Given the description of an element on the screen output the (x, y) to click on. 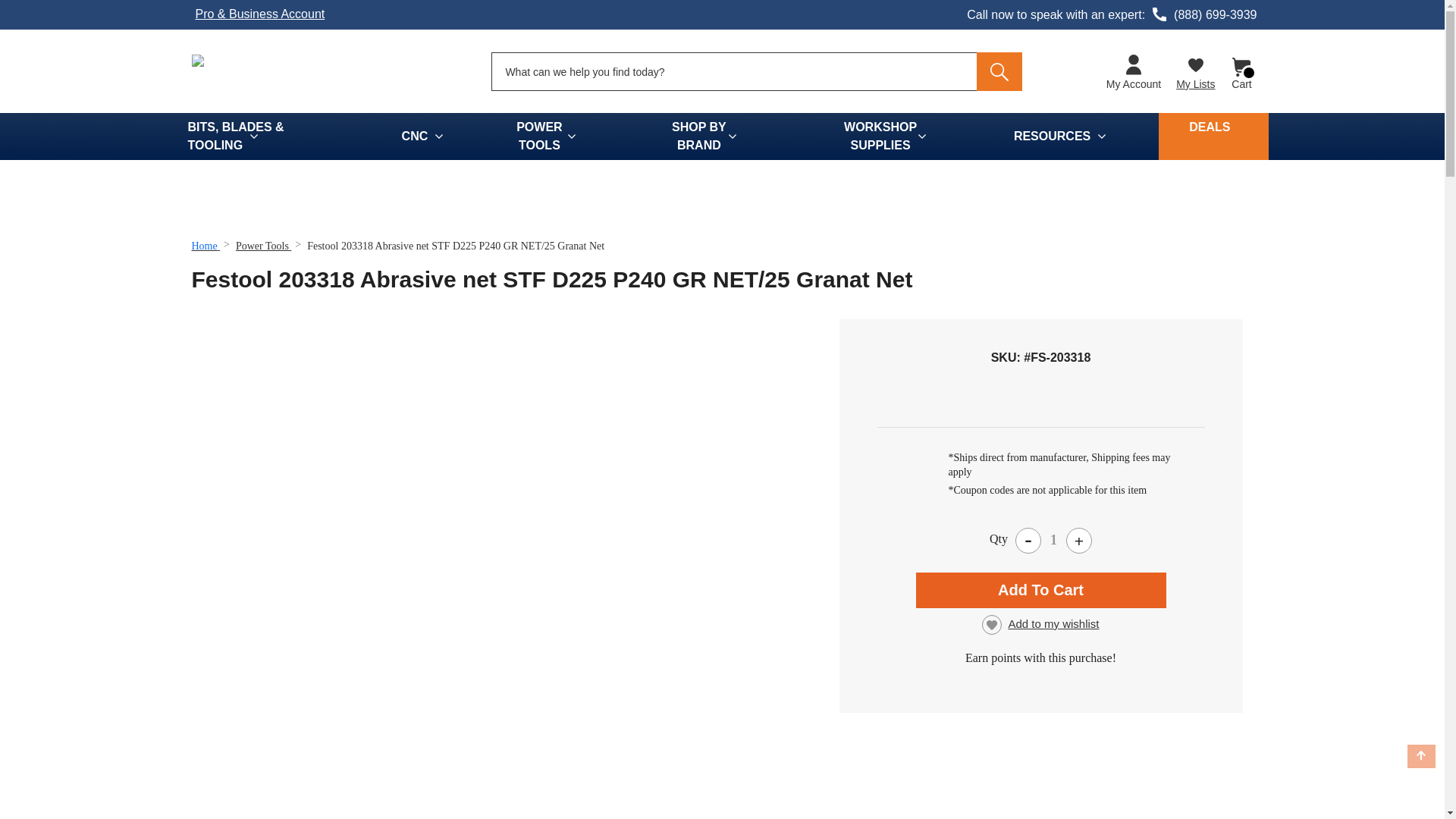
Add to Cart (1040, 590)
Wish list items (1195, 72)
1 (1053, 539)
My Account (1134, 73)
My Lists (1195, 72)
